Given the description of an element on the screen output the (x, y) to click on. 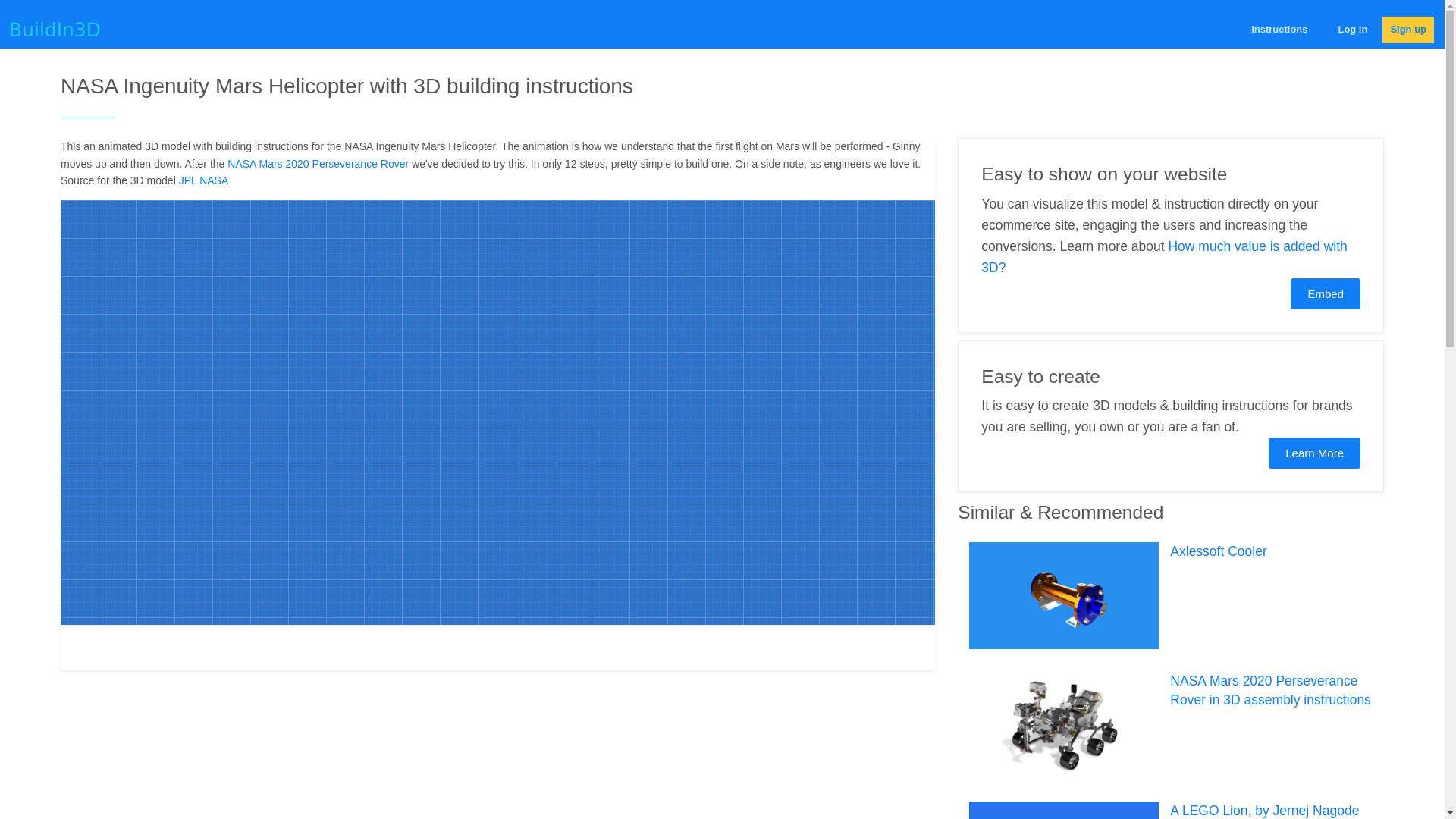
Embed (1324, 293)
A LEGO Lion, by Jernej Nagode in 3D building instructions (1264, 811)
Log in (1352, 29)
Instructions (1278, 29)
JPL NASA (203, 180)
Axlessoft Cooler (1218, 550)
How much value is added with 3D? (1164, 257)
NASA Mars 2020 Perseverance Rover (318, 163)
Learn More (1313, 452)
Sign up (1407, 29)
